Given the description of an element on the screen output the (x, y) to click on. 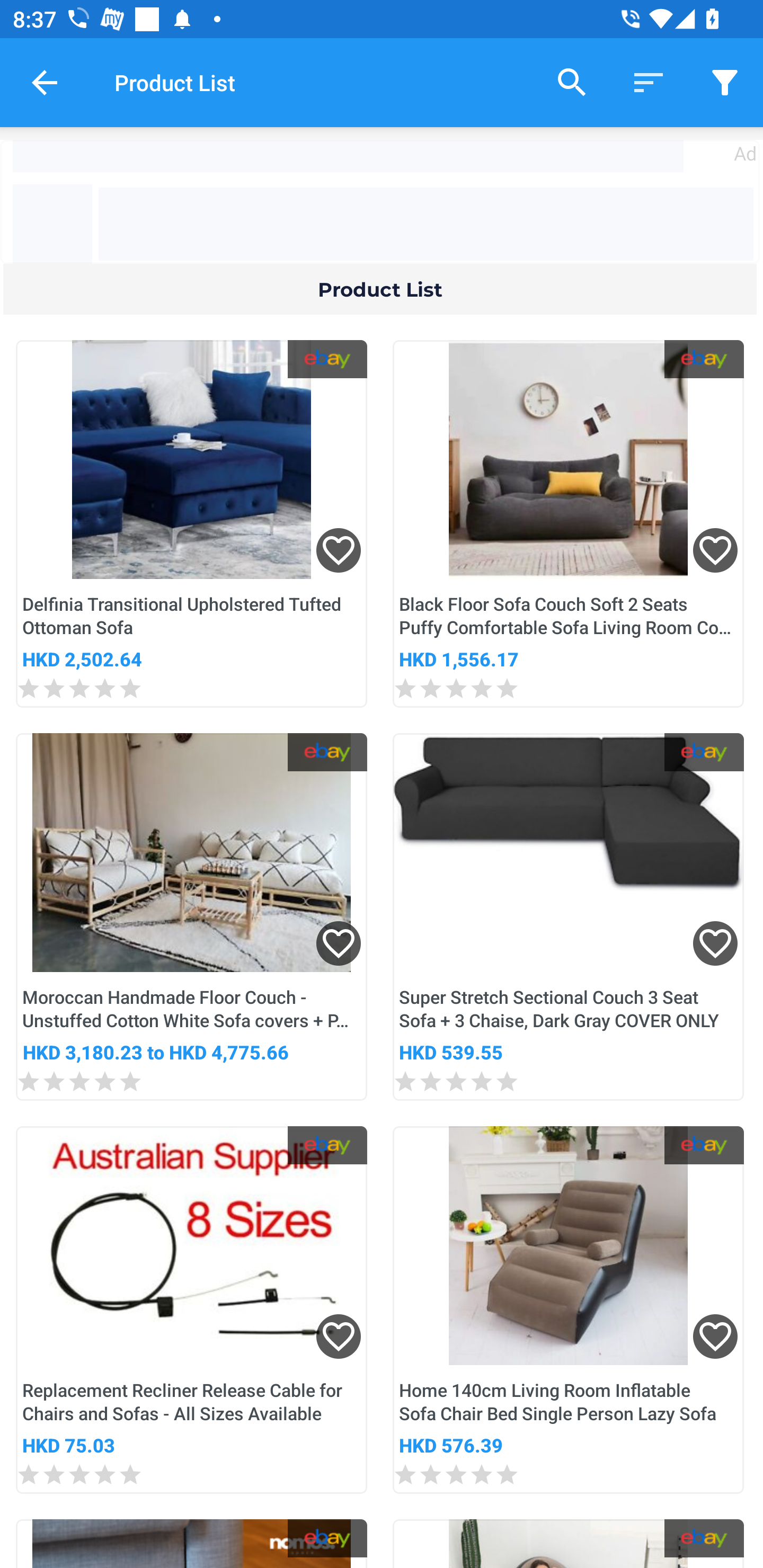
Navigate up (44, 82)
Search (572, 81)
short (648, 81)
short (724, 81)
